Given the description of an element on the screen output the (x, y) to click on. 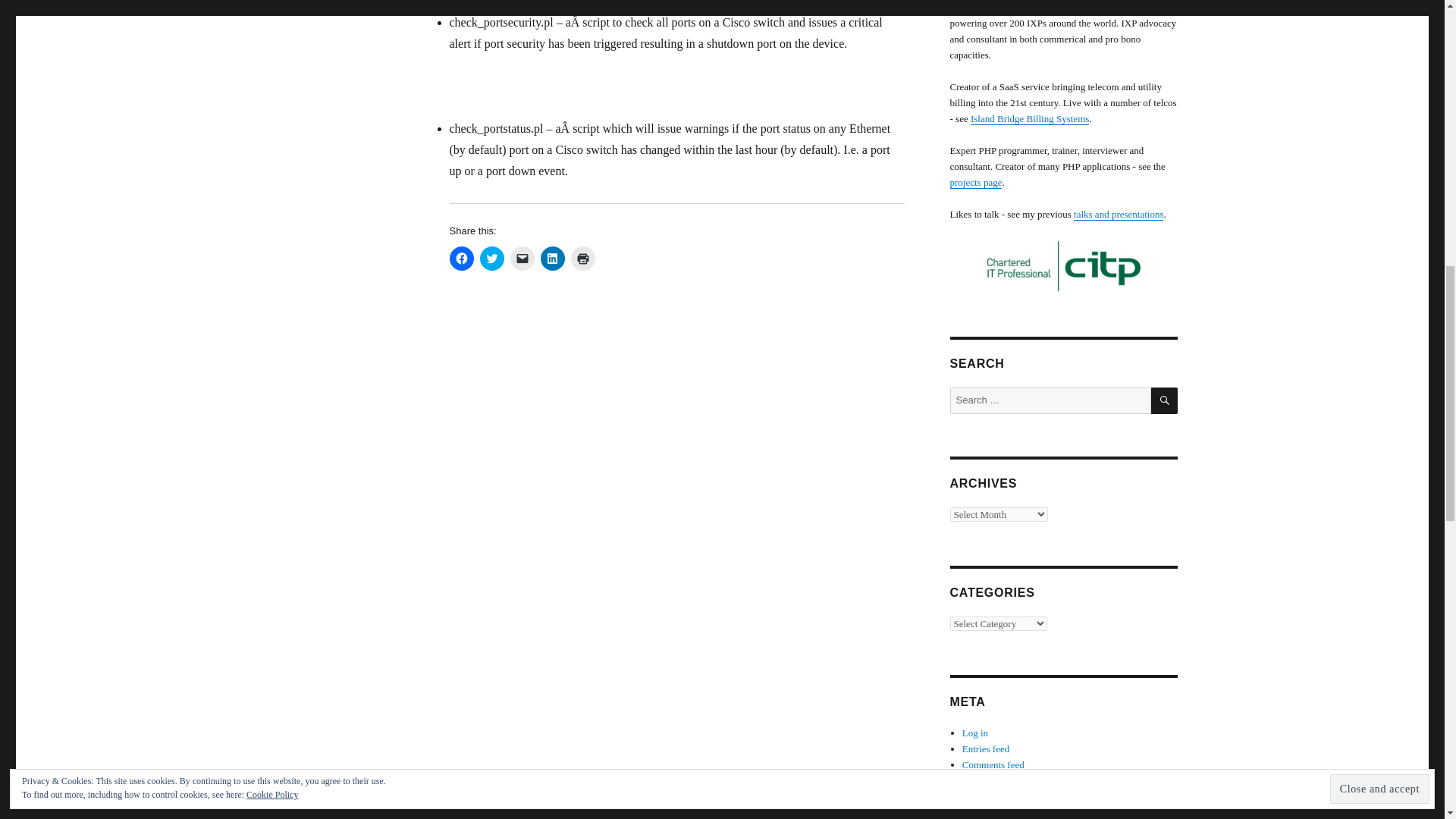
talks and presentations (1118, 214)
projects page (975, 182)
Click to email a link to a friend (521, 258)
Island Bridge Billing Systems (1030, 118)
Click to print (582, 258)
Click to share on Facebook (460, 258)
IXP Manager (986, 7)
Click to share on Twitter (491, 258)
Log in (975, 732)
SEARCH (1164, 400)
